Given the description of an element on the screen output the (x, y) to click on. 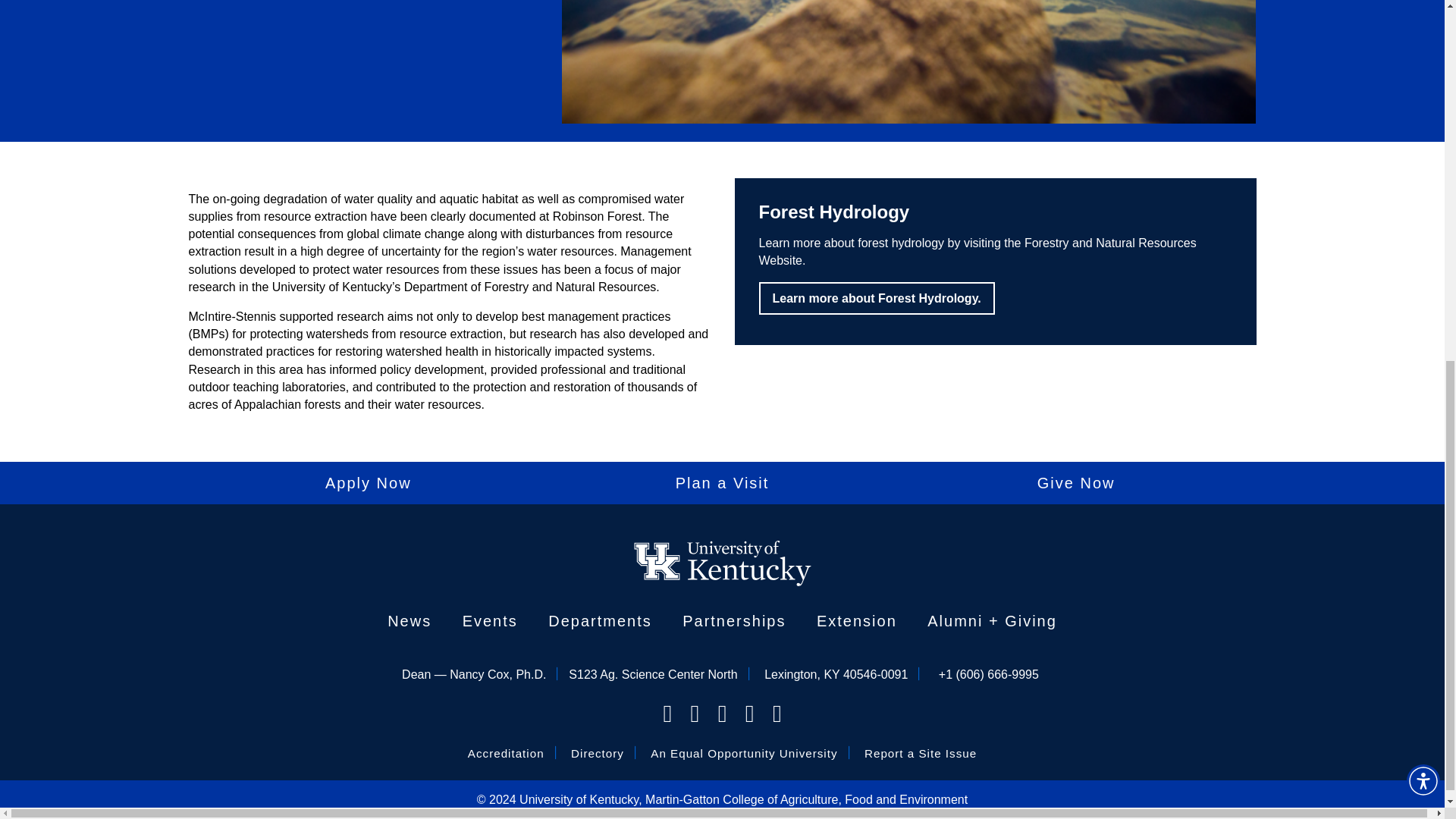
Accessibility Menu (1422, 123)
